Given the description of an element on the screen output the (x, y) to click on. 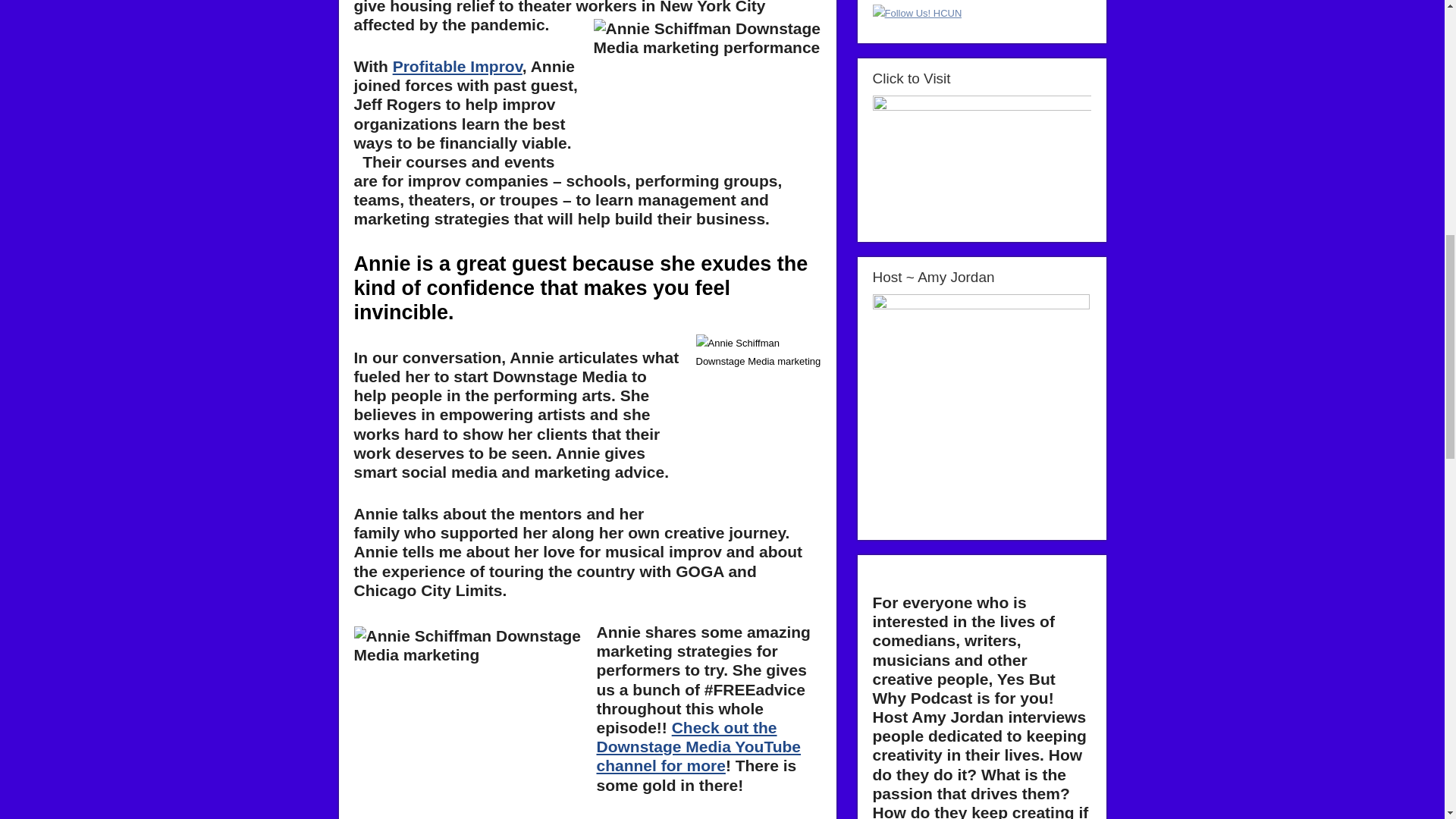
Profitable Improv (457, 66)
Check out the Downstage Media YouTube channel for more (697, 746)
